Given the description of an element on the screen output the (x, y) to click on. 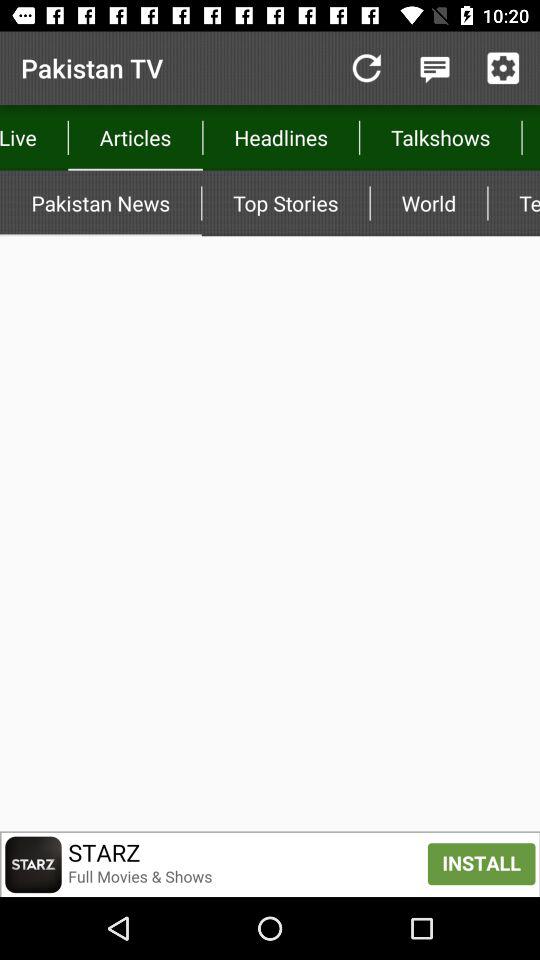
launch the icon to the left of top stories item (135, 137)
